Given the description of an element on the screen output the (x, y) to click on. 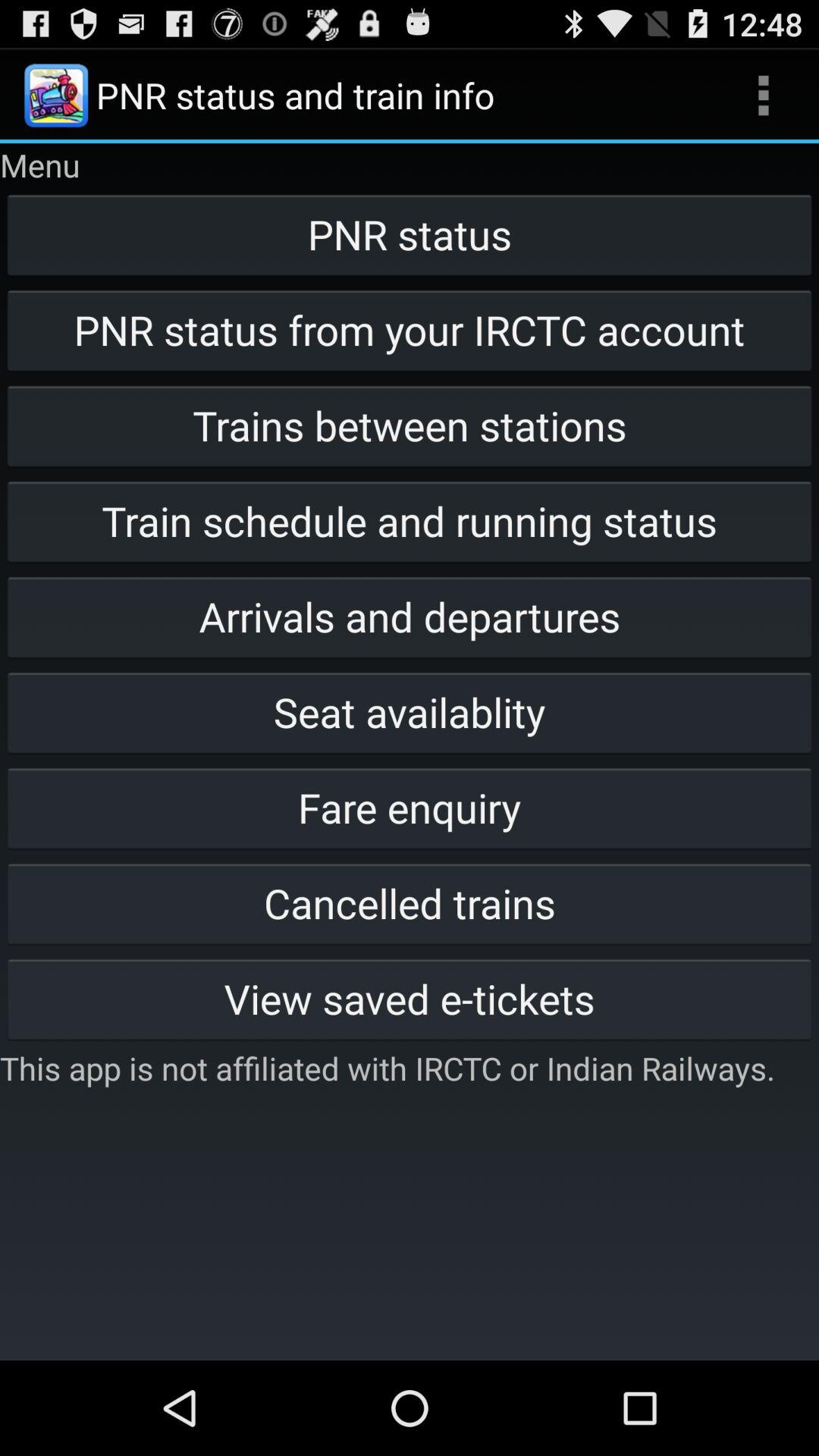
turn off icon above the cancelled trains icon (409, 807)
